Given the description of an element on the screen output the (x, y) to click on. 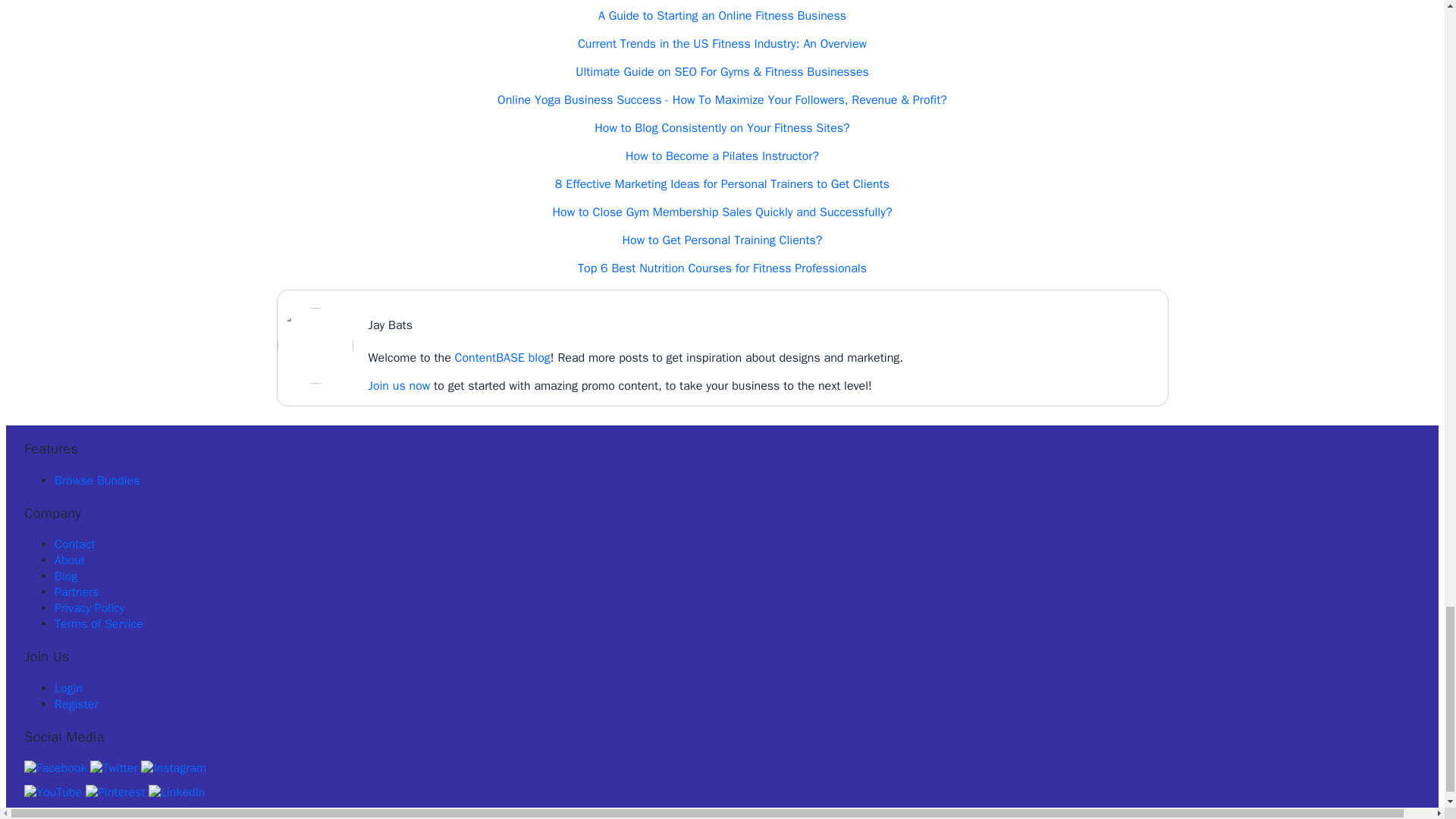
How to Get Personal Training Clients? (722, 240)
Current Trends in the US Fitness Industry: An Overview (722, 43)
A Guide to Starting an Online Fitness Business (721, 15)
Join us now (399, 385)
How to Blog Consistently on Your Fitness Sites? (721, 127)
How to Become a Pilates Instructor? (722, 155)
ContentBASE blog (502, 357)
Top 6 Best Nutrition Courses for Fitness Professionals (722, 268)
How to Close Gym Membership Sales Quickly and Successfully? (721, 212)
